Given the description of an element on the screen output the (x, y) to click on. 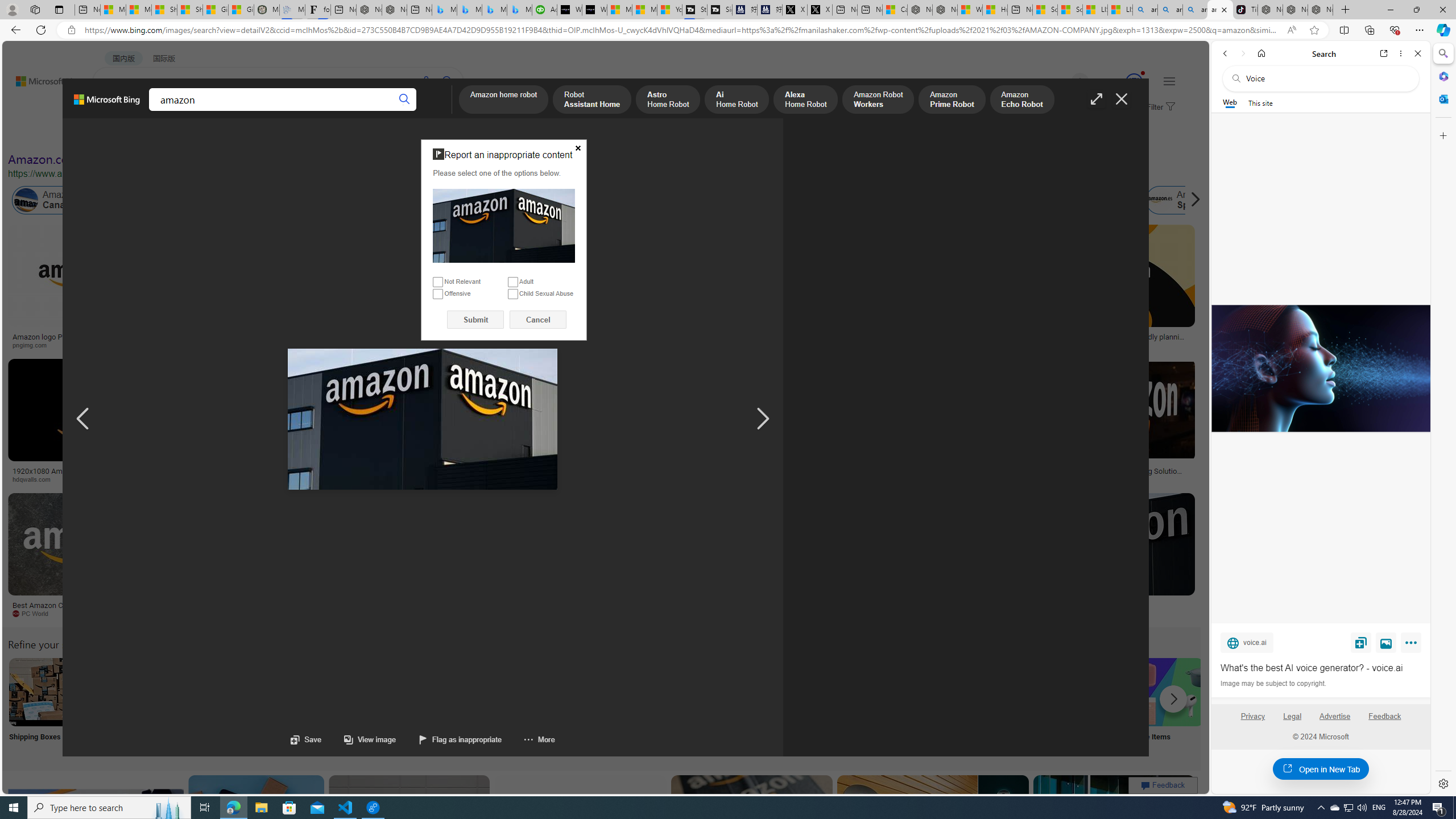
Listen: What's next for Amazon? (403, 336)
Address and search bar (680, 29)
aiophotoz.com (347, 612)
VIDEOS (260, 111)
manilashaker.com (660, 612)
manilashaker.com (722, 613)
Nordace - Best Sellers (1270, 9)
Amazon Online Store Online Store (644, 706)
amazon - Search (1170, 9)
WEB (114, 111)
More (528, 739)
